Given the description of an element on the screen output the (x, y) to click on. 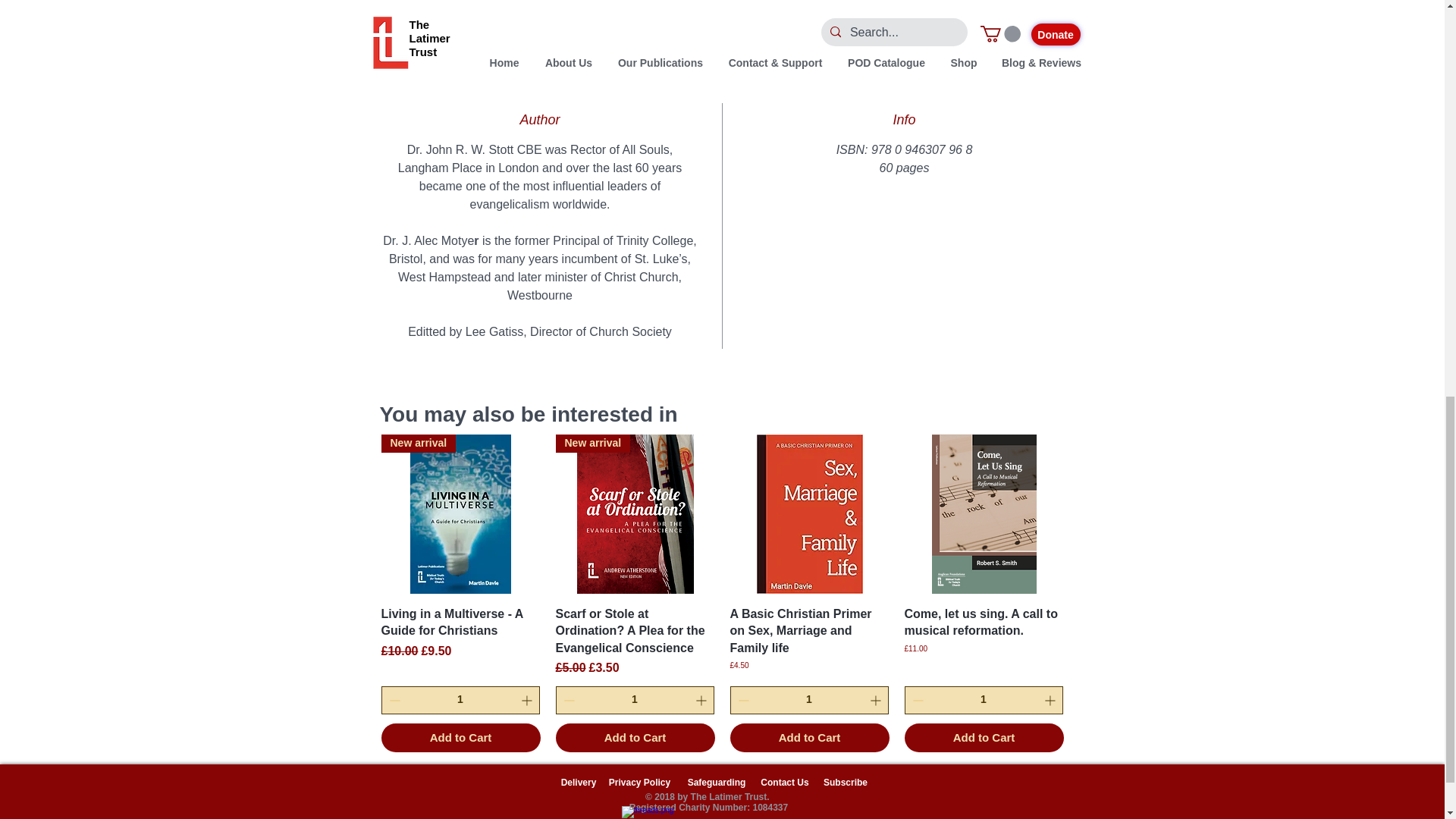
New arrival (634, 513)
1 (808, 699)
1 (459, 699)
Add to Cart (460, 737)
1 (982, 699)
1 (634, 699)
New arrival (460, 513)
